Given the description of an element on the screen output the (x, y) to click on. 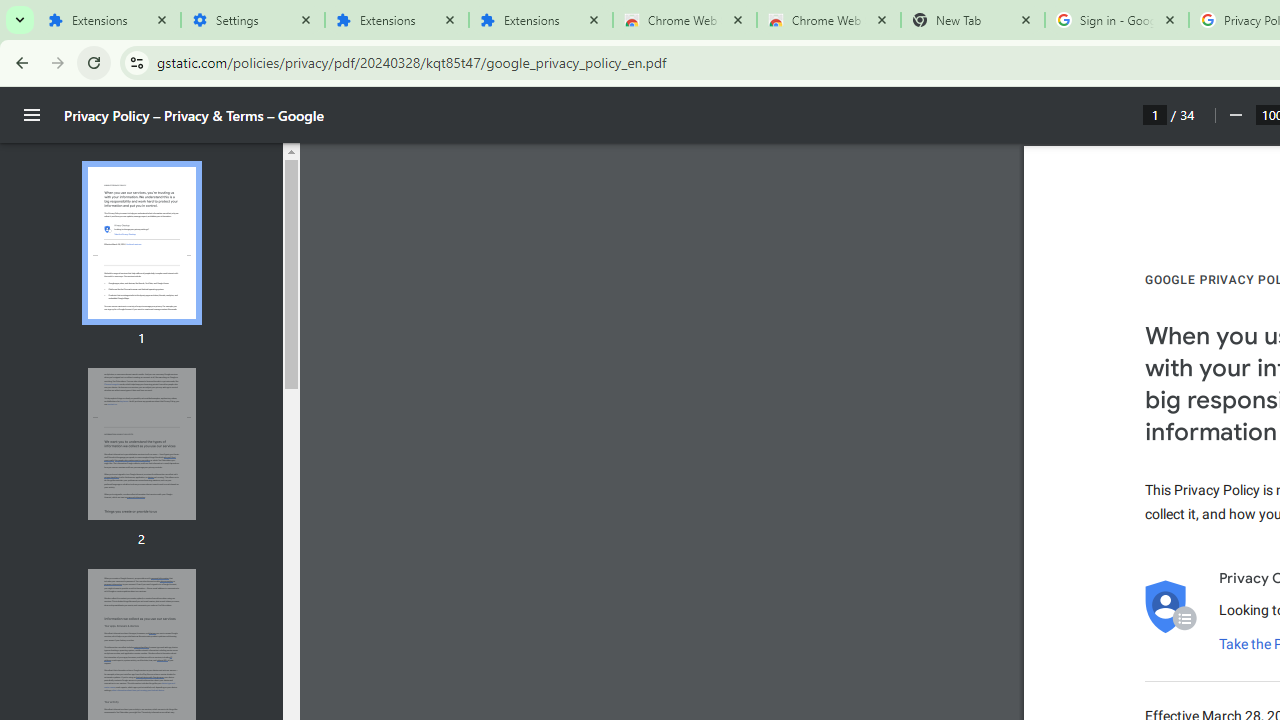
Menu (31, 115)
Zoom out (1234, 115)
Settings (252, 20)
Thumbnail for page 2 (141, 444)
Page number (1155, 114)
AutomationID: thumbnail (141, 443)
Chrome Web Store - Themes (828, 20)
Extensions (540, 20)
Thumbnail for page 1 (141, 243)
Extensions (108, 20)
Sign in - Google Accounts (1116, 20)
